Given the description of an element on the screen output the (x, y) to click on. 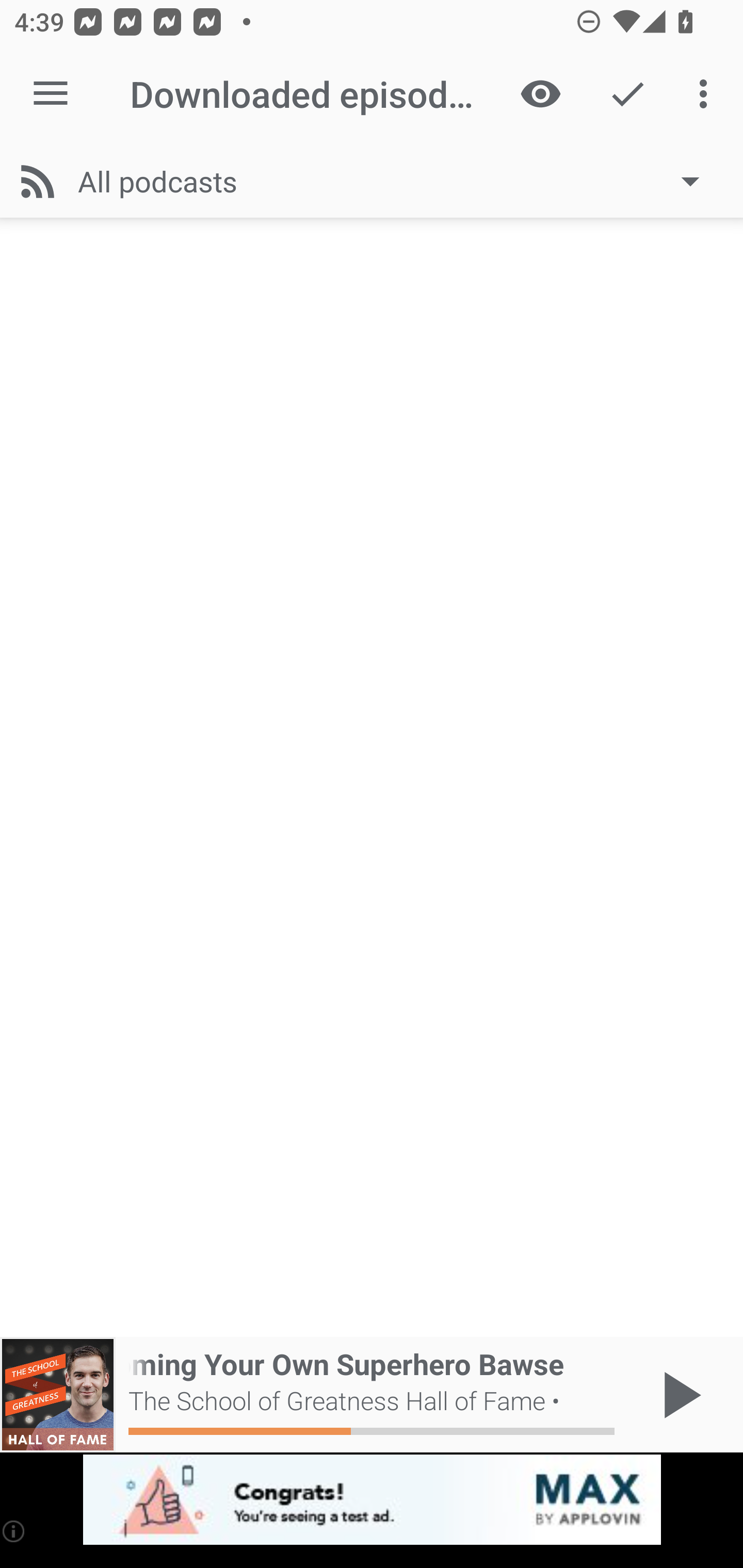
Open navigation sidebar (50, 93)
Show / Hide played content (540, 93)
Action Mode (626, 93)
More options (706, 93)
All podcasts (398, 180)
Play / Pause (677, 1394)
app-monetization (371, 1500)
(i) (14, 1531)
